Given the description of an element on the screen output the (x, y) to click on. 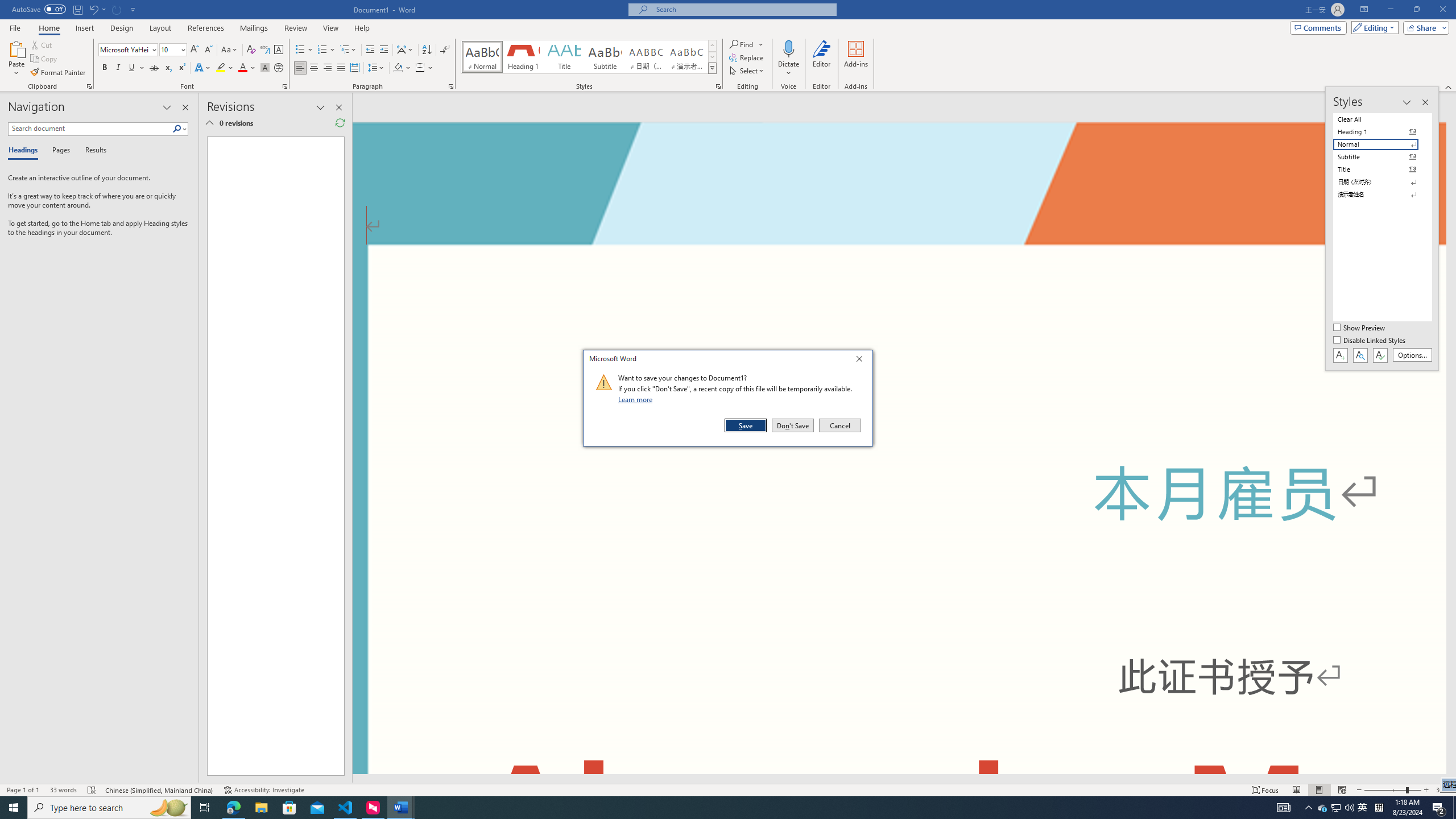
Save (746, 425)
Sort... (426, 49)
Shading RGB(0, 0, 0) (397, 67)
Class: NetUIScrollBar (898, 778)
Office Clipboard... (88, 85)
Insert (83, 28)
Start (13, 807)
Page Number Page 1 of 1 (22, 790)
Zoom (1392, 790)
Ribbon Display Options (1364, 9)
References (205, 28)
Font (128, 49)
Paste (16, 58)
